Given the description of an element on the screen output the (x, y) to click on. 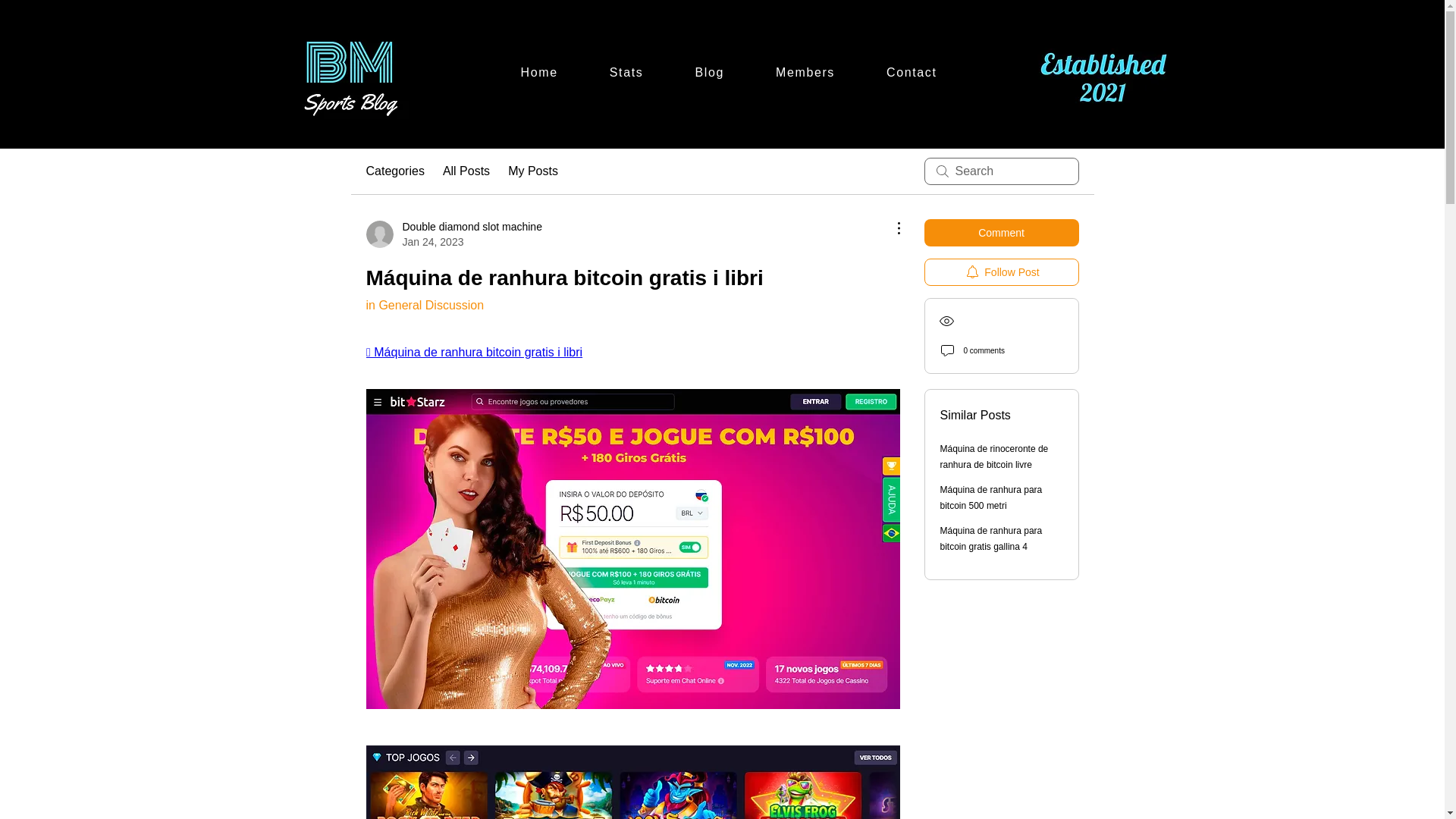
My Posts (532, 171)
Members (804, 72)
in General Discussion (424, 305)
Home (538, 72)
All Posts (465, 171)
Comment (1000, 232)
Blog (453, 234)
Stats (708, 72)
Categories (626, 72)
Follow Post (394, 171)
Contact (1000, 271)
